Given the description of an element on the screen output the (x, y) to click on. 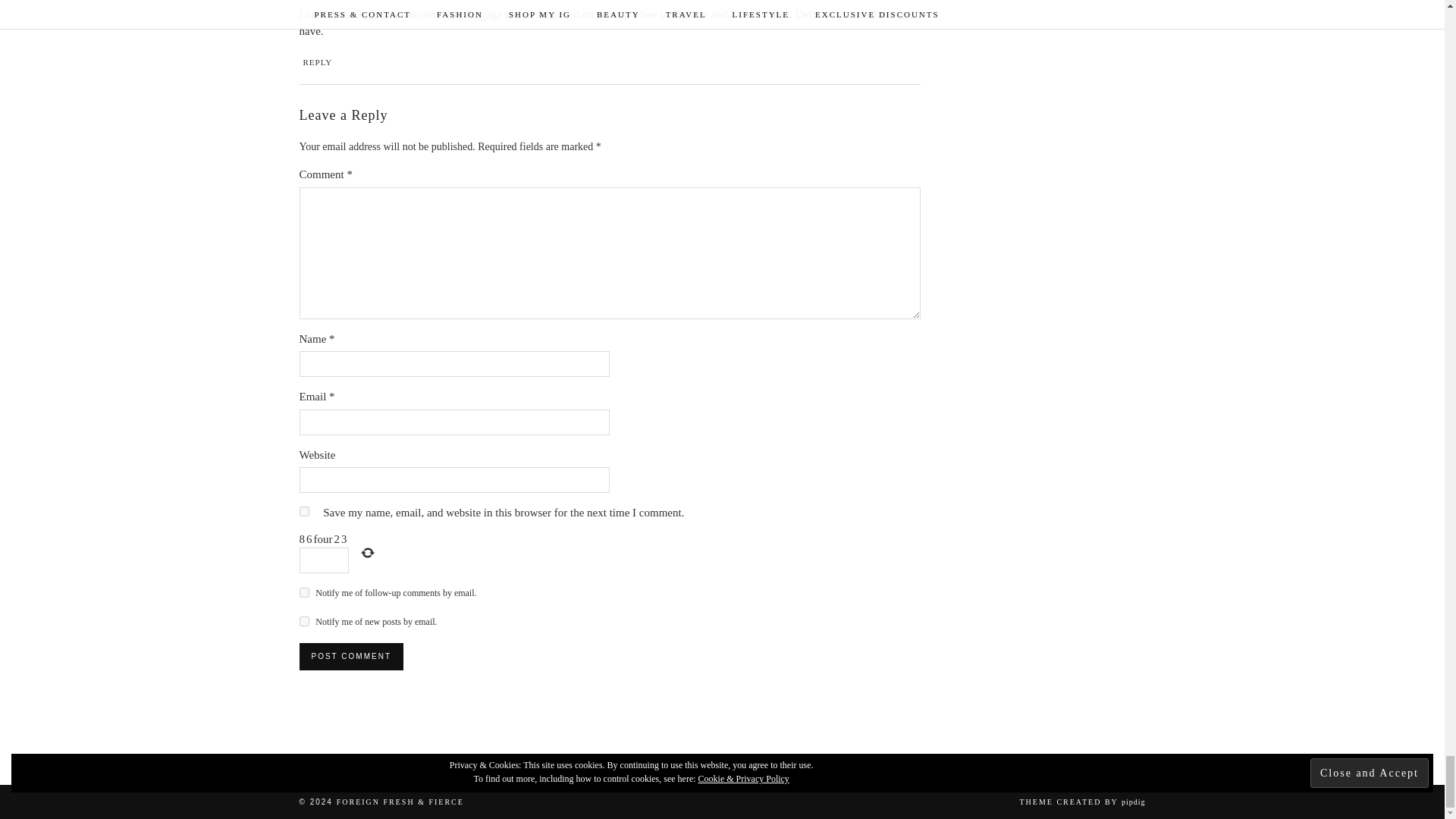
subscribe (303, 592)
Post Comment (350, 656)
yes (303, 511)
subscribe (303, 621)
